Given the description of an element on the screen output the (x, y) to click on. 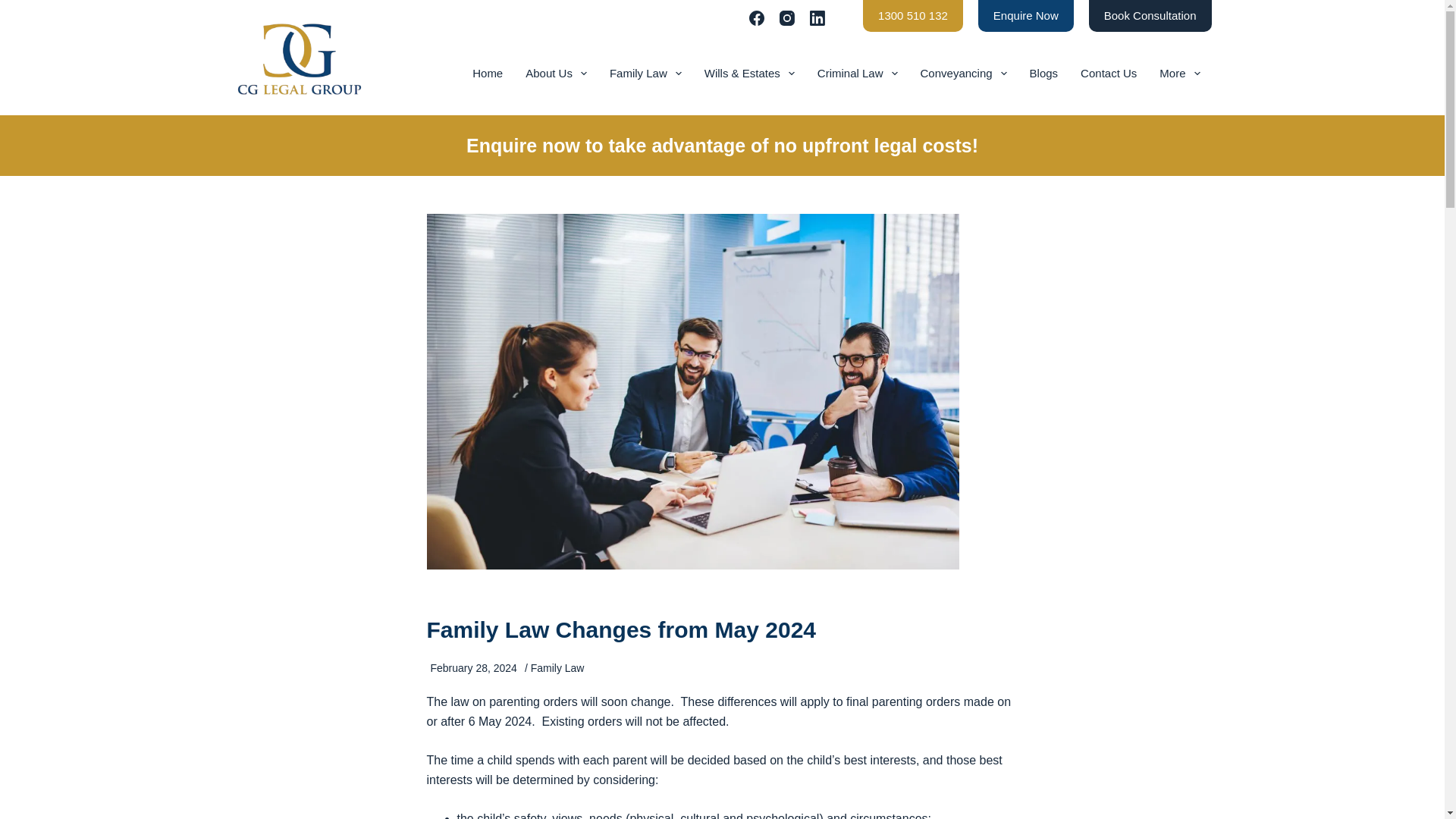
Skip to content (15, 7)
